Given the description of an element on the screen output the (x, y) to click on. 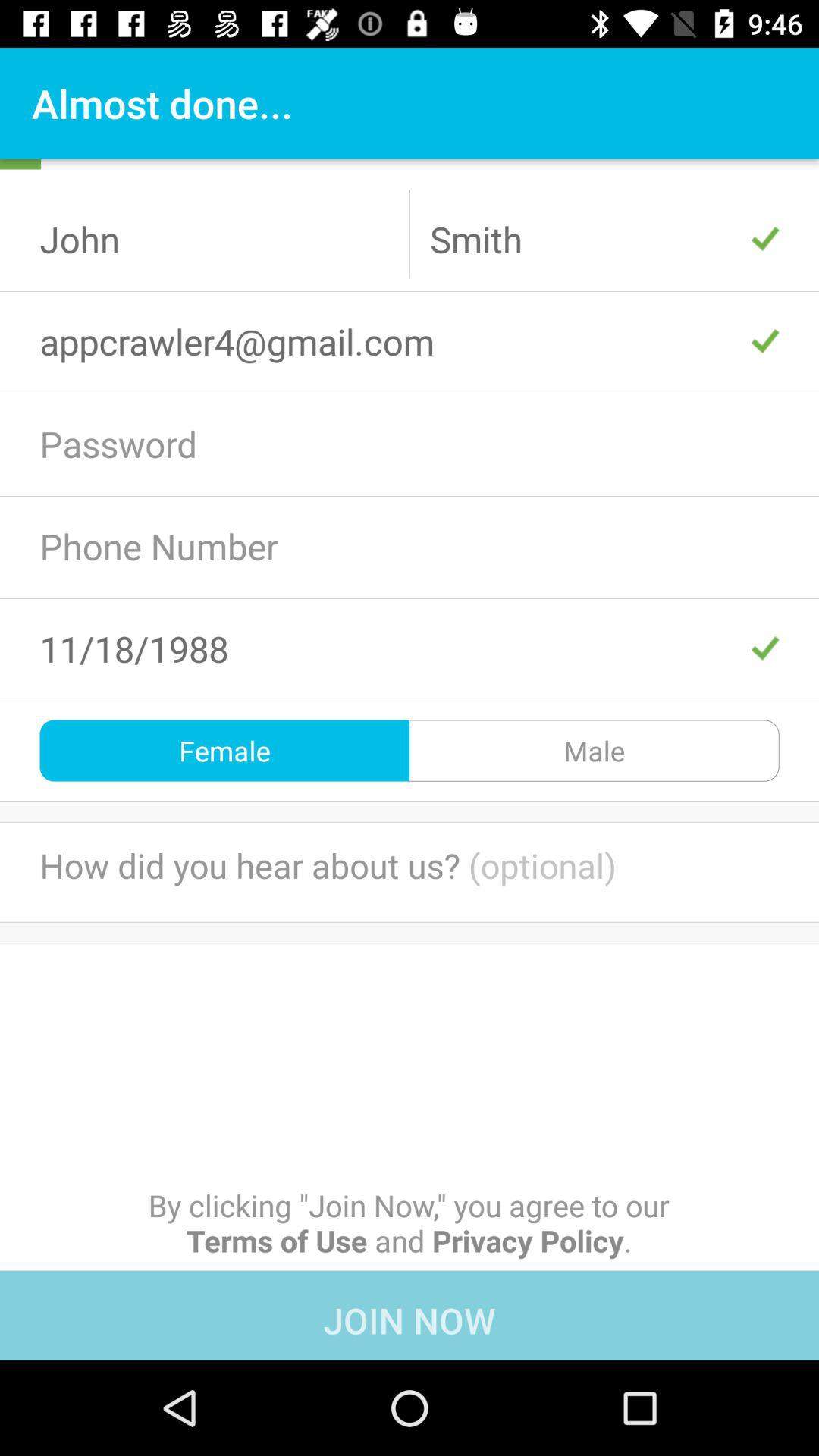
click the female on the left (224, 750)
